Given the description of an element on the screen output the (x, y) to click on. 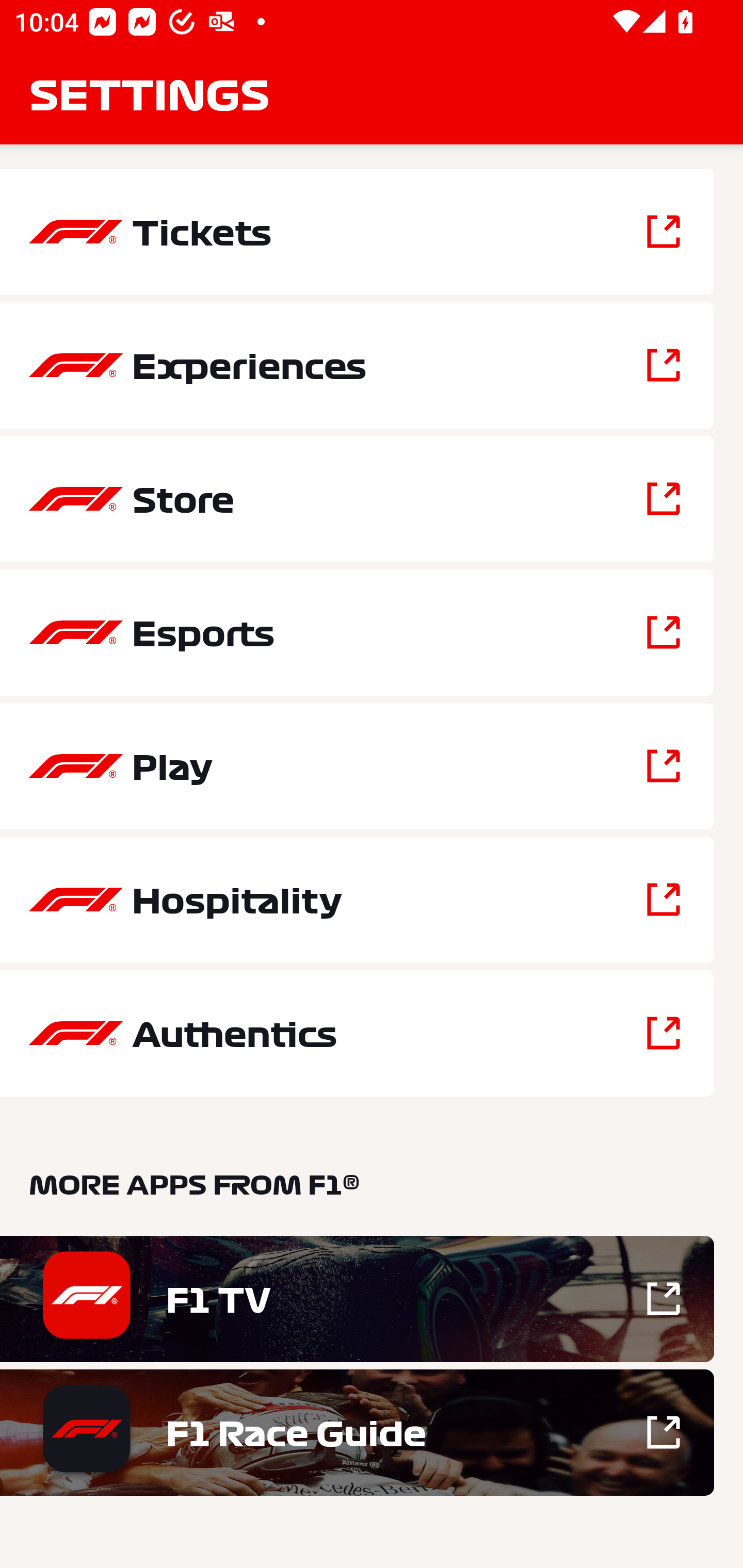
Tickets (357, 231)
Experiences (357, 365)
Store (357, 498)
Esports (357, 632)
Play (357, 765)
Hospitality (357, 899)
Authentics (357, 1033)
F1 TV (357, 1298)
F1 Race Guide (357, 1431)
